Given the description of an element on the screen output the (x, y) to click on. 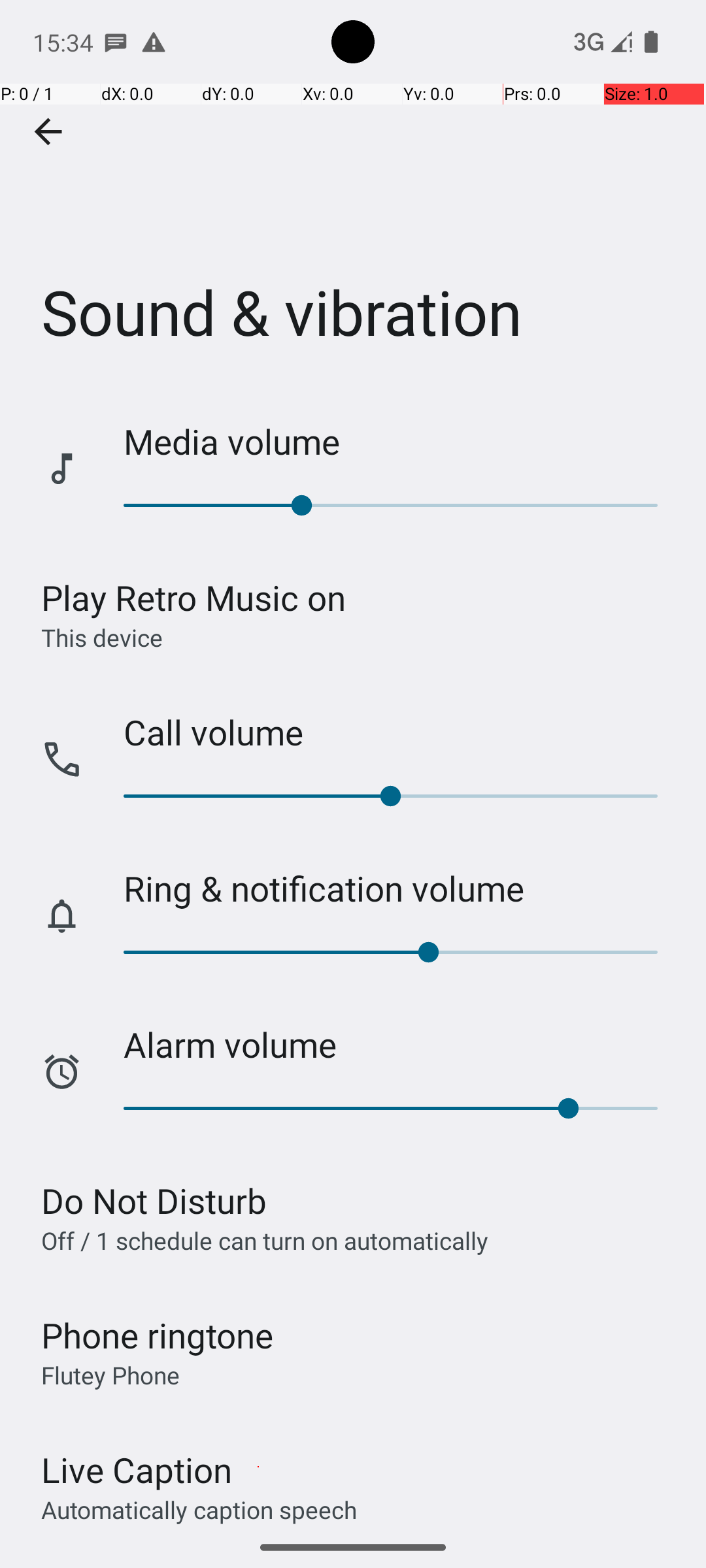
Media volume Element type: android.widget.TextView (400, 441)
Play Retro Music on Element type: android.widget.TextView (193, 597)
This device Element type: android.widget.TextView (101, 636)
Call volume Element type: android.widget.TextView (400, 731)
Ring & notification volume Element type: android.widget.TextView (400, 888)
Alarm volume Element type: android.widget.TextView (400, 1044)
Do Not Disturb Element type: android.widget.TextView (153, 1200)
Off / 1 schedule can turn on automatically Element type: android.widget.TextView (264, 1240)
Phone ringtone Element type: android.widget.TextView (157, 1334)
Flutey Phone Element type: android.widget.TextView (110, 1374)
Live Caption Element type: android.widget.TextView (136, 1469)
Automatically caption speech Element type: android.widget.TextView (199, 1509)
